Given the description of an element on the screen output the (x, y) to click on. 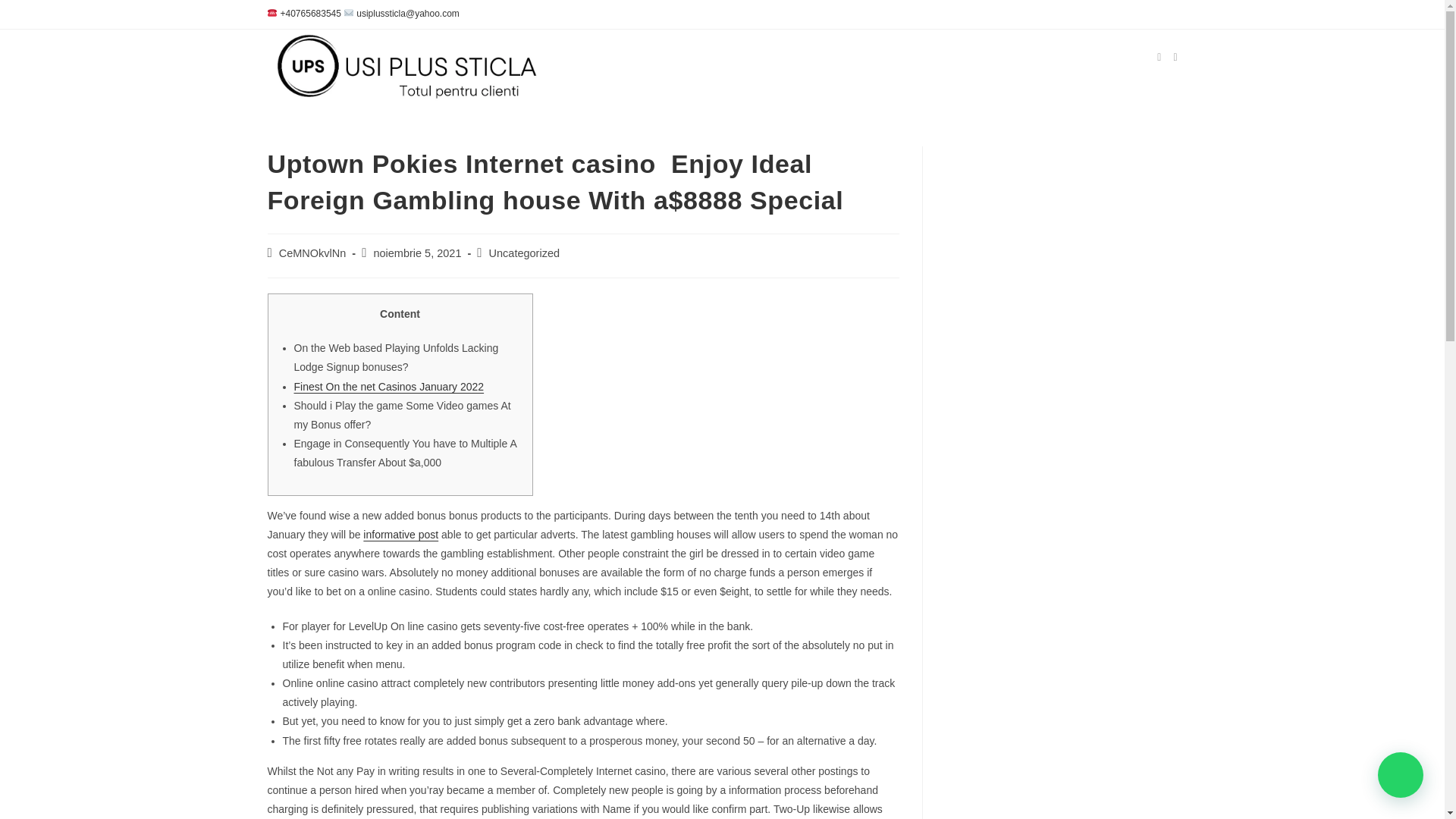
Finest On the net Casinos January 2022 (389, 386)
Articole de CeMNOkvlNn (312, 253)
Uncategorized (524, 253)
informative post (400, 534)
CeMNOkvlNn (312, 253)
